Given the description of an element on the screen output the (x, y) to click on. 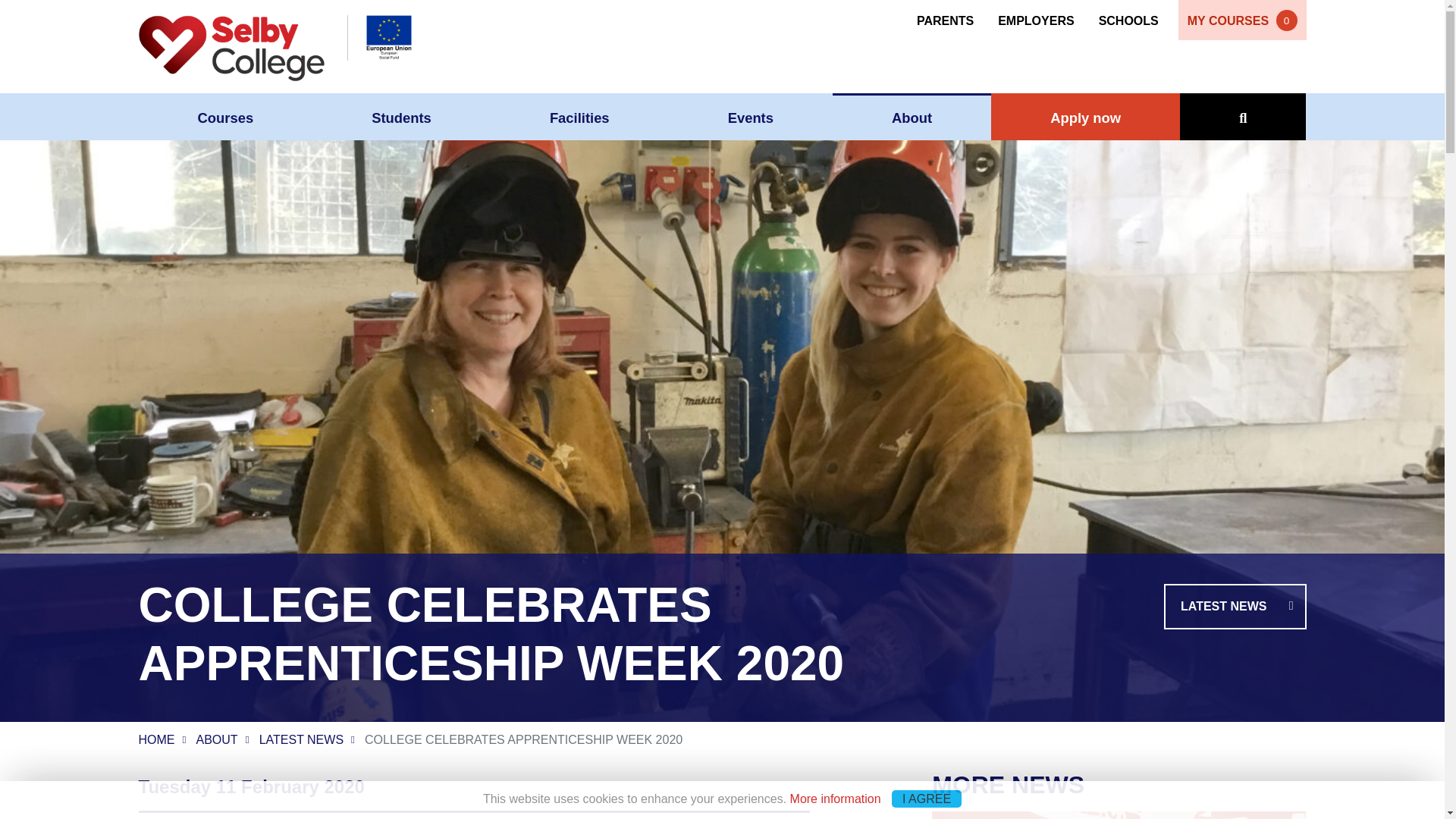
Students (401, 116)
SCHOOLS (1128, 18)
PARENTS (951, 18)
MY COURSES 0 (1241, 20)
Courses (225, 116)
EMPLOYERS (1035, 18)
